Given the description of an element on the screen output the (x, y) to click on. 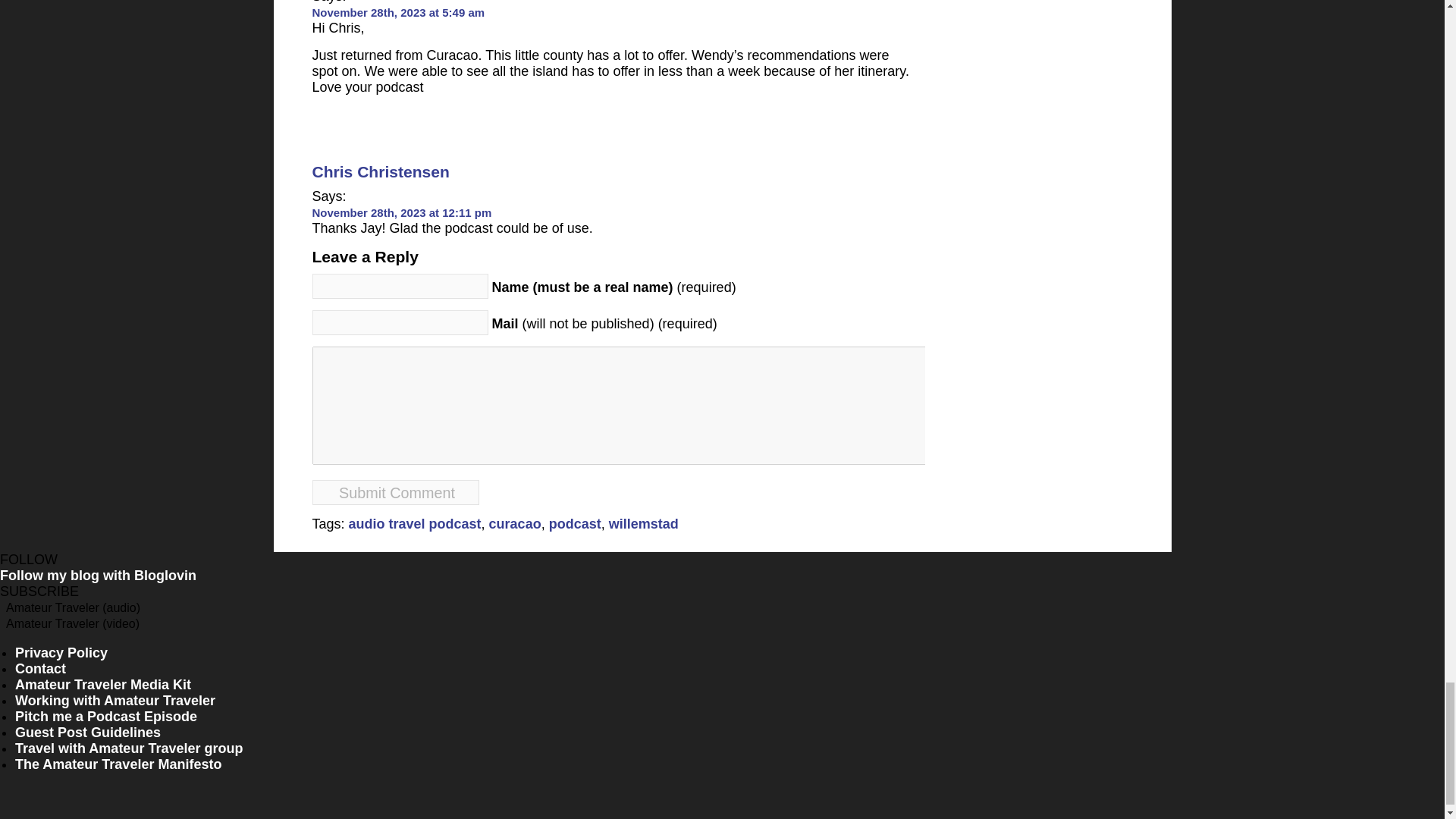
Submit Comment (396, 492)
